Given the description of an element on the screen output the (x, y) to click on. 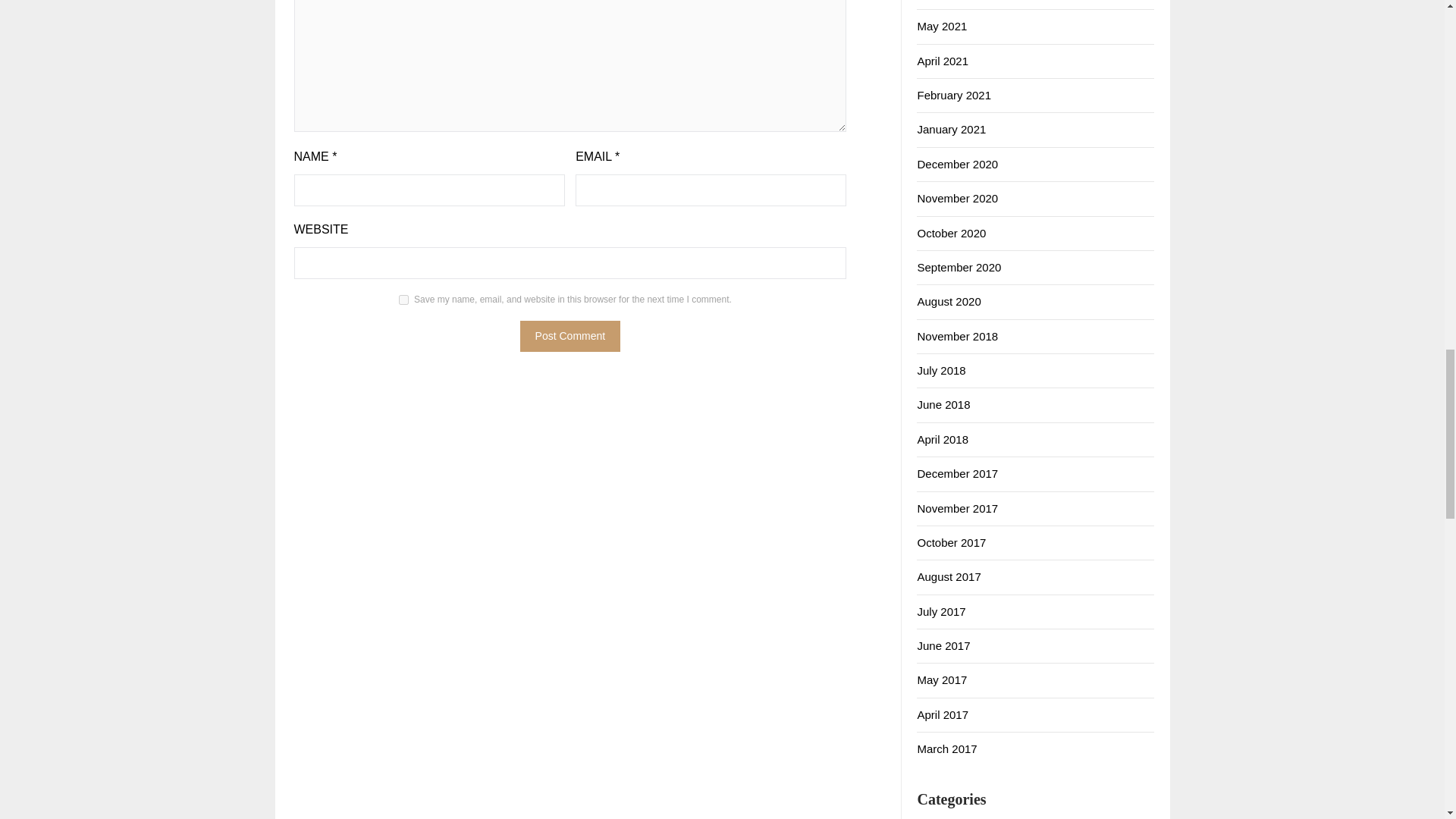
Post Comment (570, 336)
Post Comment (570, 336)
yes (403, 299)
